Given the description of an element on the screen output the (x, y) to click on. 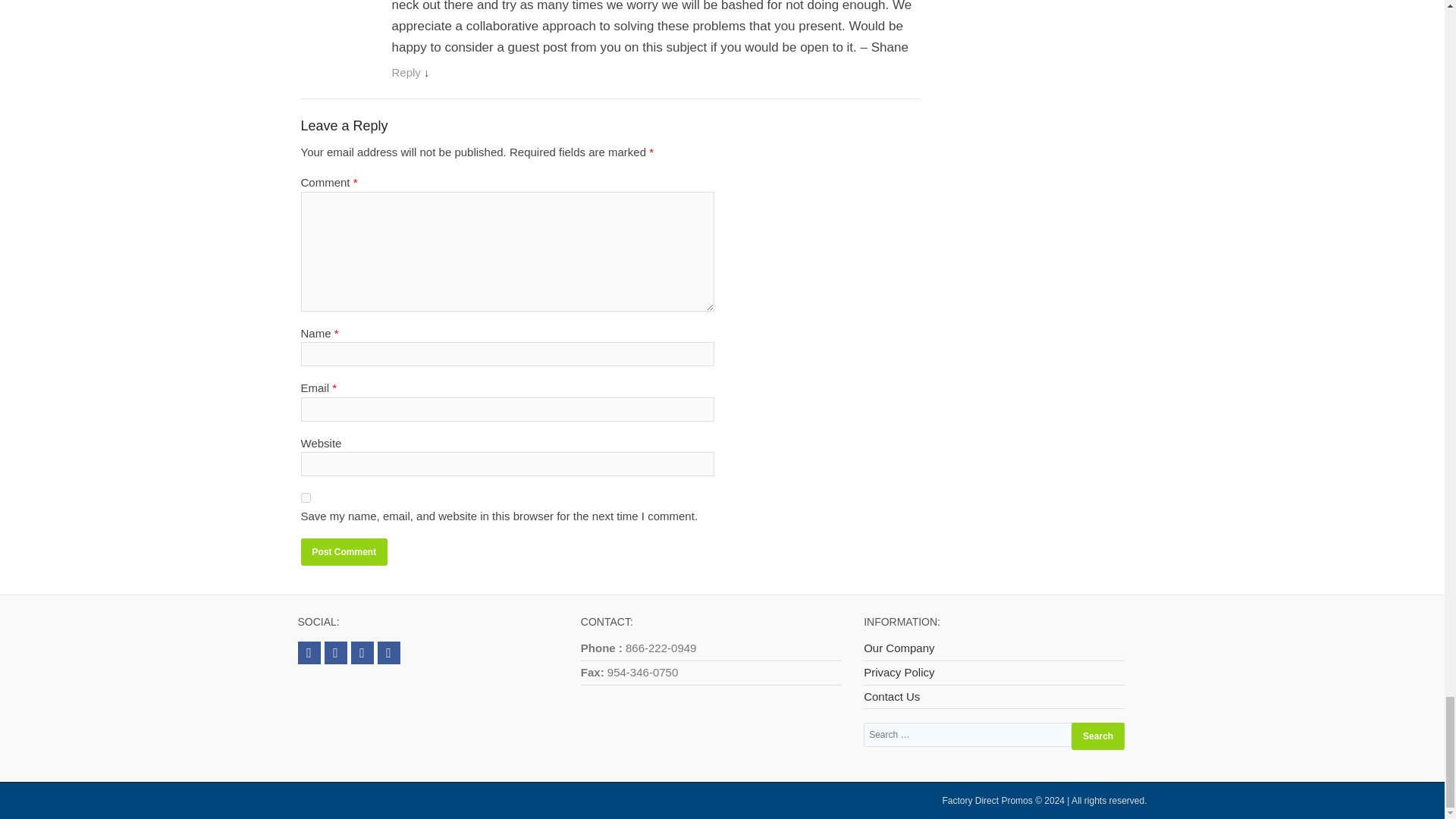
Post Comment (343, 551)
Twitter (308, 652)
Search (1097, 736)
yes (304, 497)
Search (1097, 736)
